Given the description of an element on the screen output the (x, y) to click on. 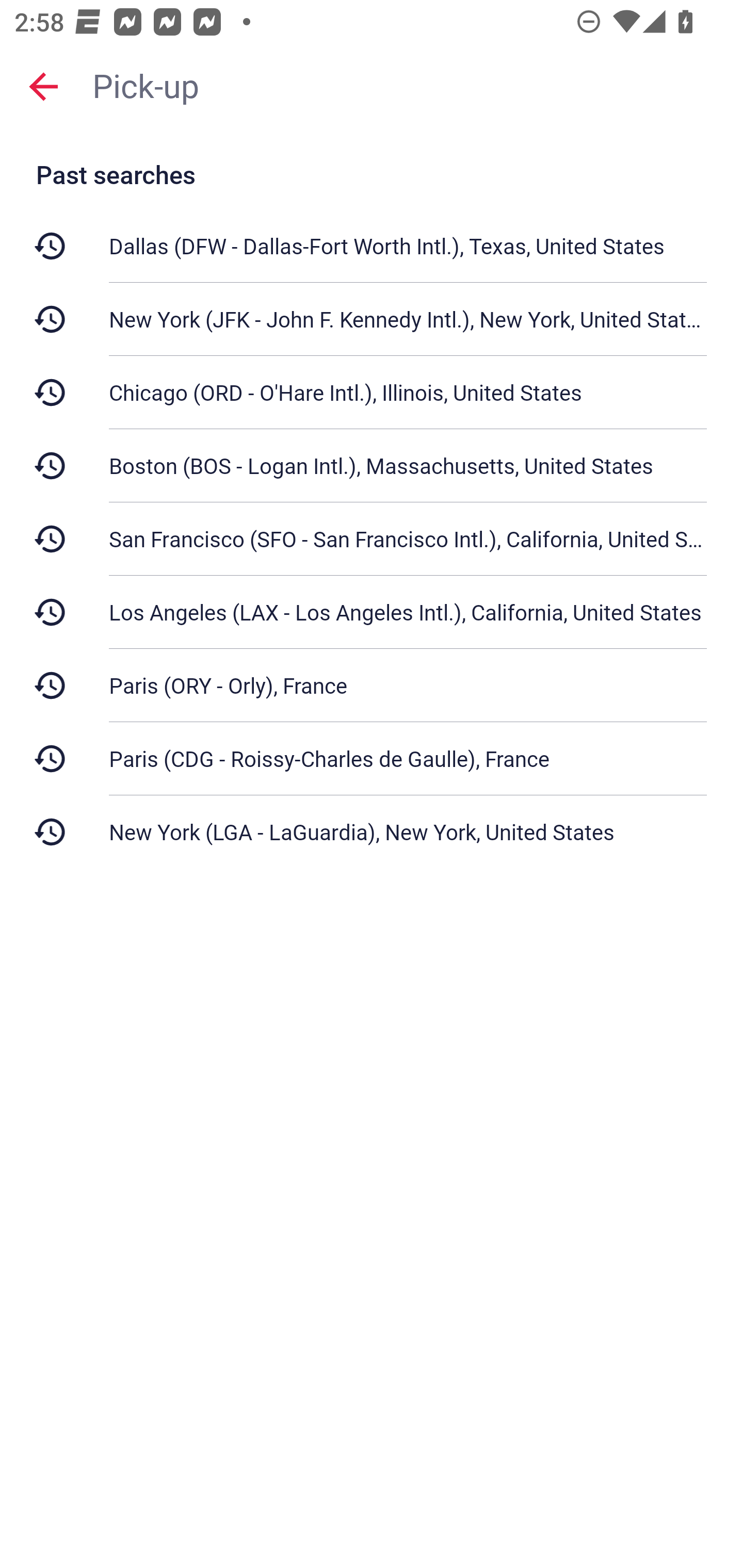
Pick-up,  (407, 85)
Close search screen (43, 86)
